Given the description of an element on the screen output the (x, y) to click on. 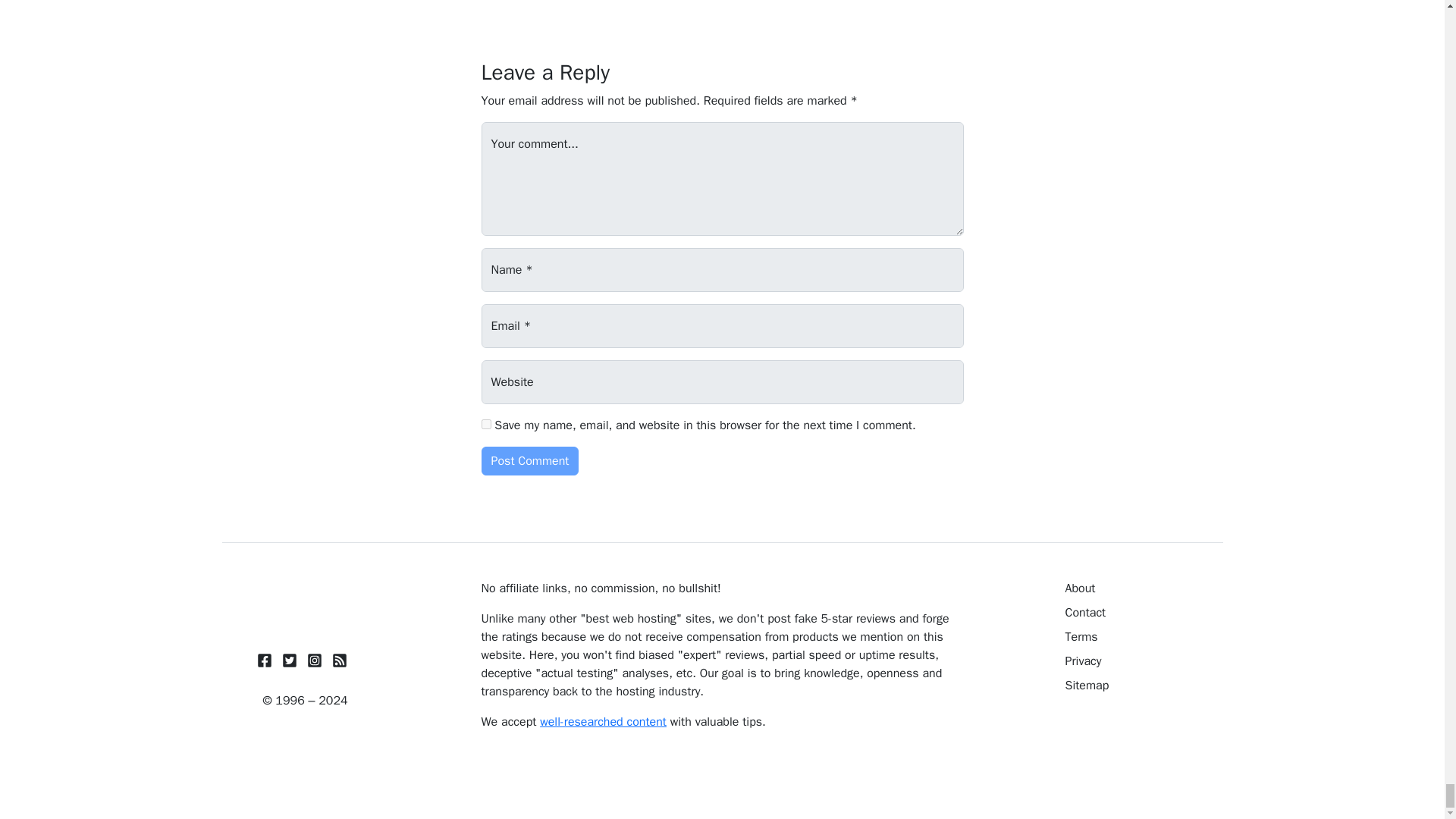
Go to home page (305, 603)
yes (485, 423)
Post Comment (529, 460)
Post Comment (529, 460)
well-researched content (603, 721)
